Given the description of an element on the screen output the (x, y) to click on. 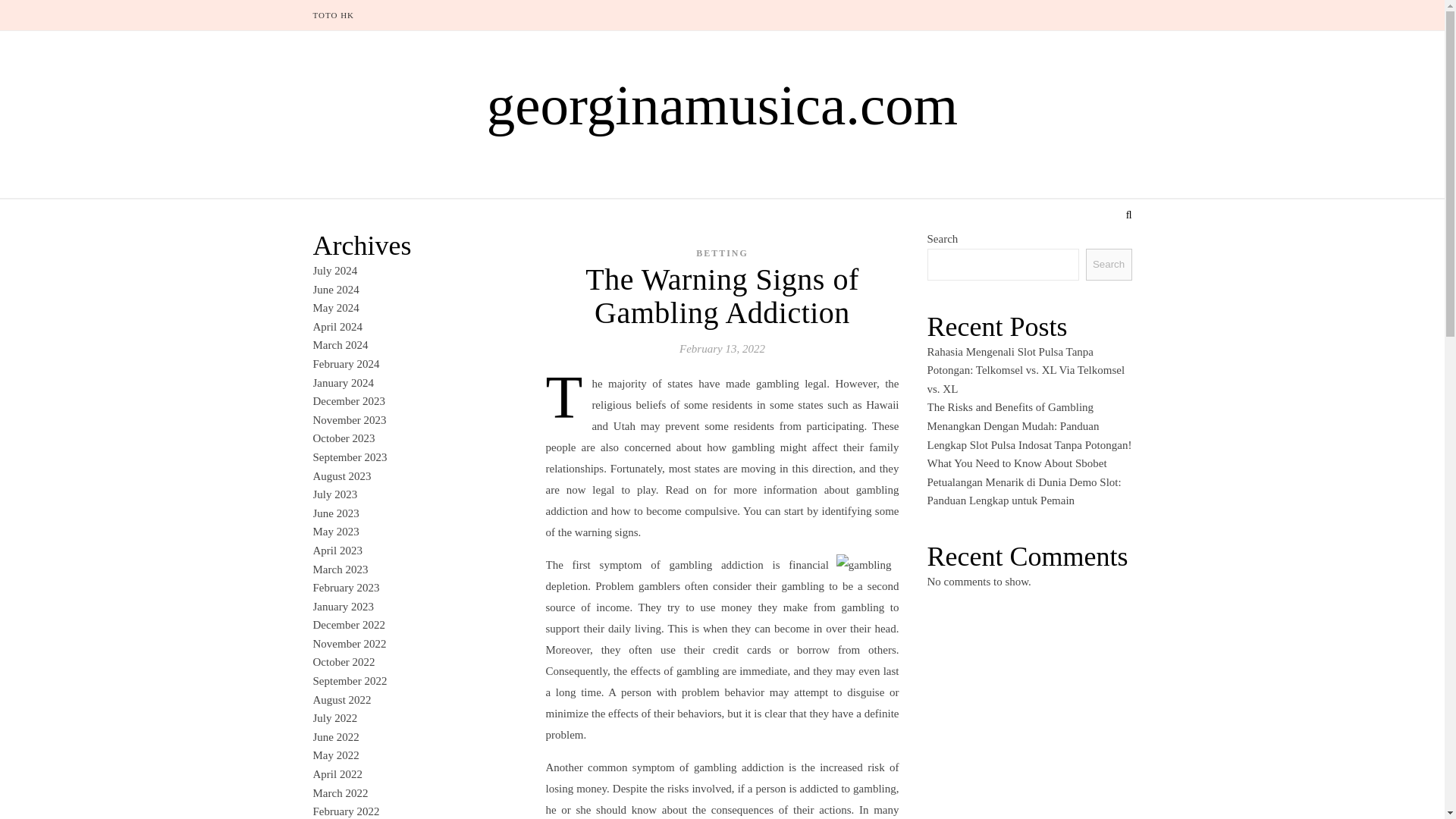
November 2022 (349, 644)
August 2022 (342, 699)
October 2023 (343, 438)
February 2024 (345, 363)
November 2023 (349, 419)
March 2024 (340, 345)
June 2022 (335, 736)
December 2023 (348, 400)
October 2022 (343, 662)
August 2023 (342, 476)
December 2022 (348, 624)
May 2024 (335, 307)
April 2022 (337, 774)
georginamusica.com (722, 104)
April 2024 (337, 326)
